Given the description of an element on the screen output the (x, y) to click on. 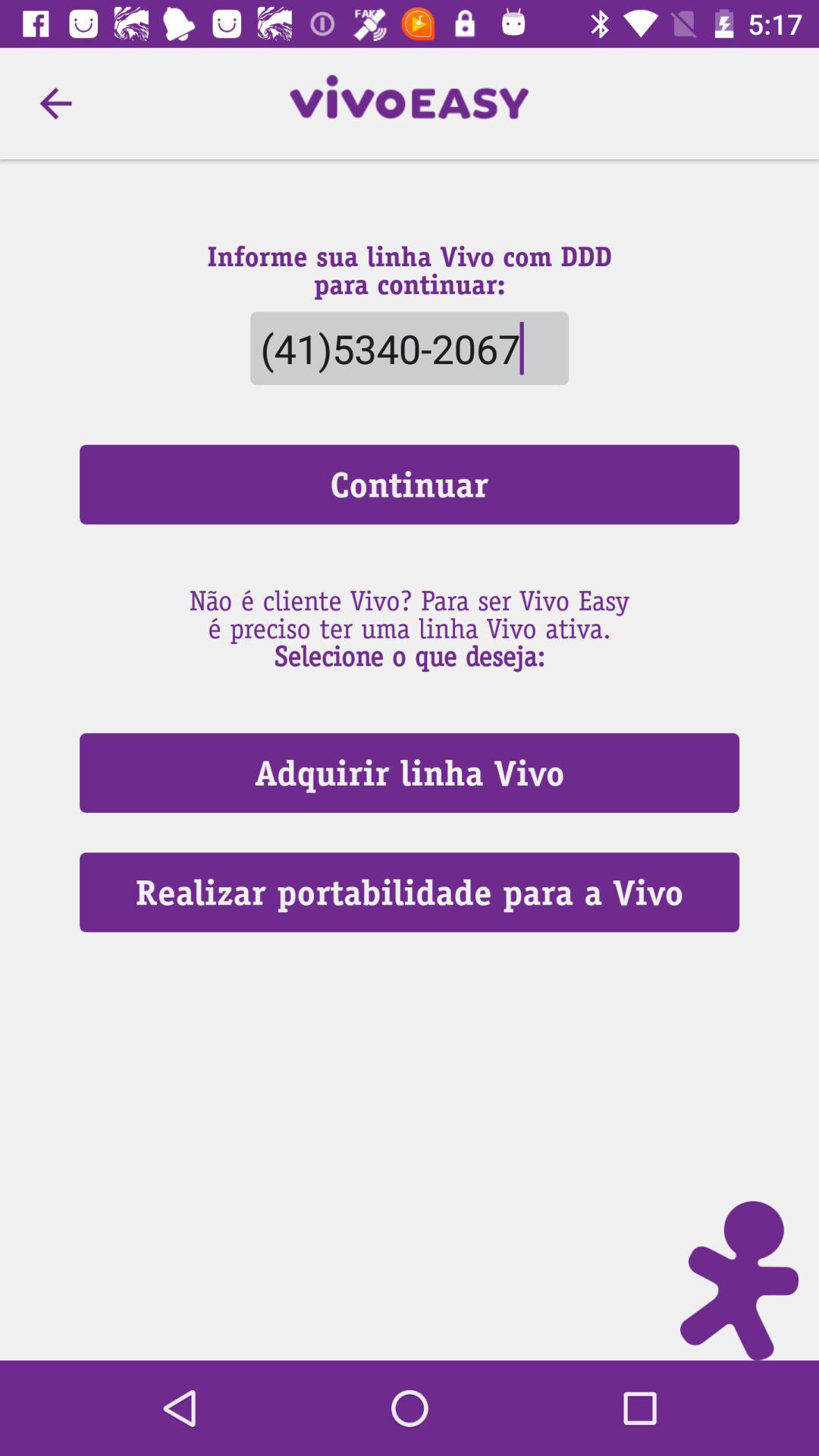
scroll until (41)5340-2067 icon (409, 348)
